Given the description of an element on the screen output the (x, y) to click on. 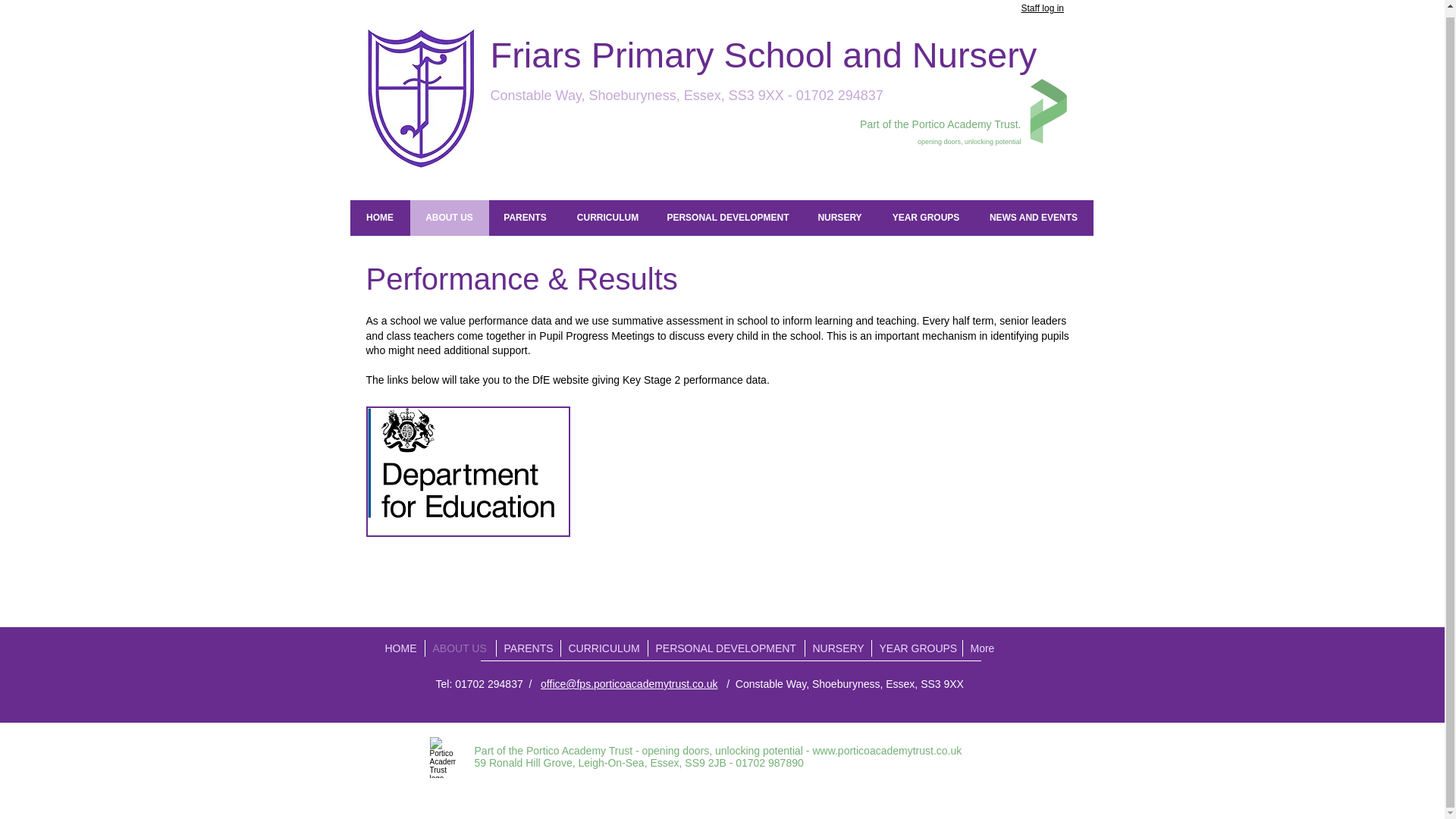
ABOUT US (448, 217)
CURRICULUM (606, 217)
PARENTS (523, 217)
Staff log in (1041, 8)
PERSONAL DEVELOPMENT (727, 217)
HOME (380, 217)
YEAR GROUPS (925, 217)
NURSERY (839, 217)
